Given the description of an element on the screen output the (x, y) to click on. 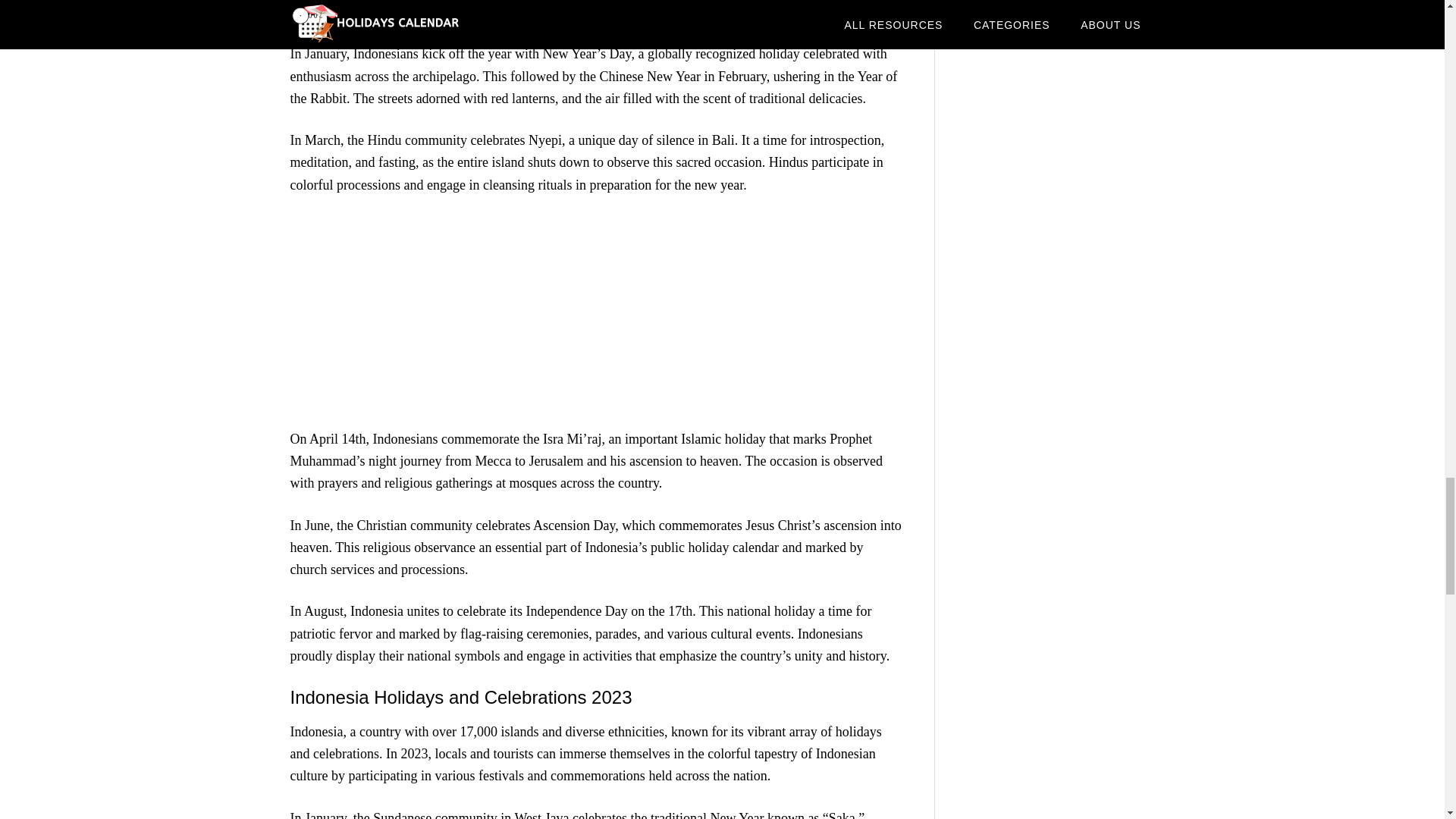
PDF (595, 11)
